Given the description of an element on the screen output the (x, y) to click on. 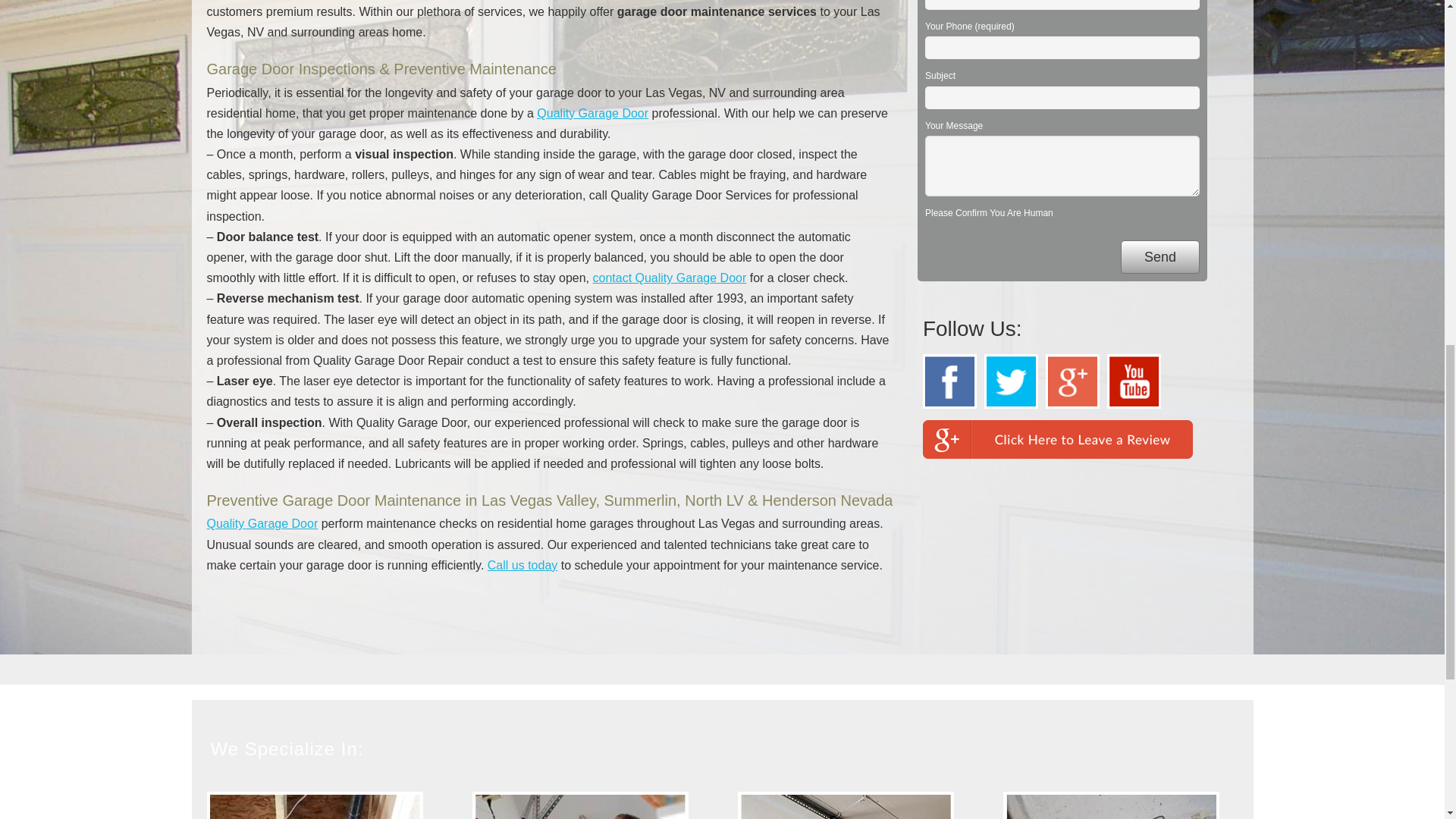
Call us today (522, 564)
contact Quality Garage Door (668, 277)
Send (1160, 257)
Send (1160, 257)
Quality Garage Door (592, 113)
Quality Garage Door (261, 522)
